Given the description of an element on the screen output the (x, y) to click on. 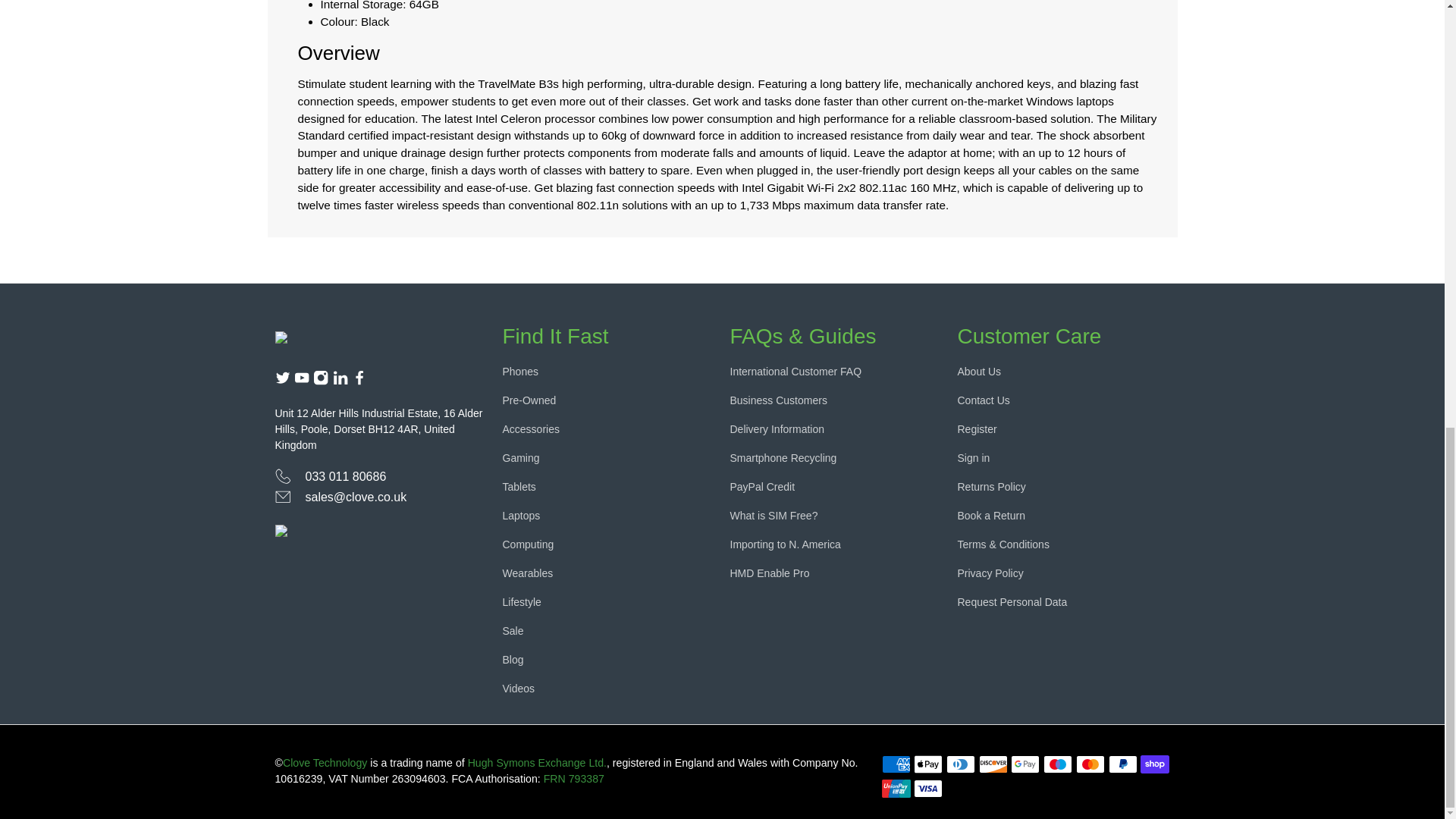
Clove Technology on LinkedIn (340, 381)
Clove Technology on YouTube (301, 381)
Clove Technology on Facebook (359, 381)
Clove Technology on Twitter (282, 381)
Clove Technology (338, 333)
Clove Technology on Instagram (321, 381)
